Given the description of an element on the screen output the (x, y) to click on. 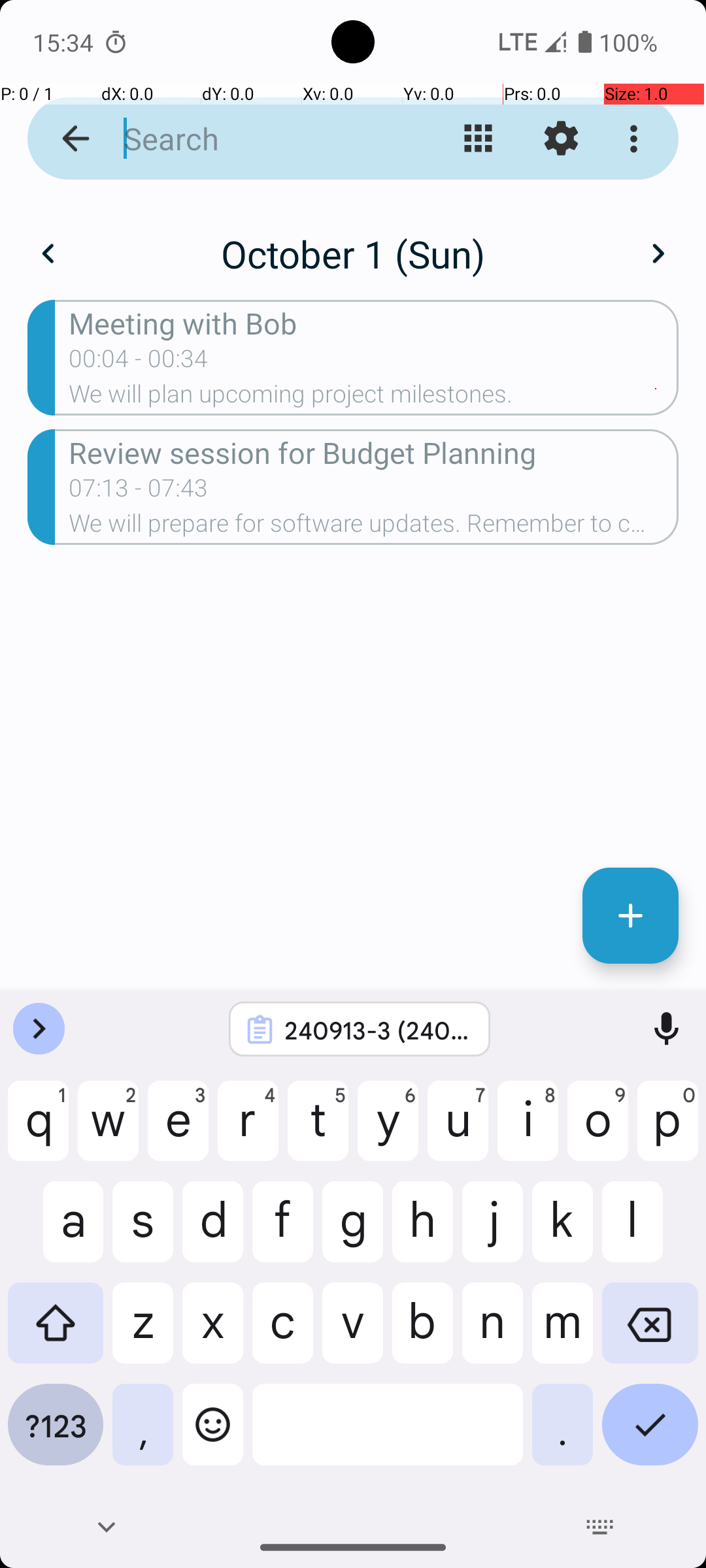
October 1 (Sun) Element type: android.widget.TextView (352, 253)
00:04 - 00:34 Element type: android.widget.TextView (137, 362)
We will plan upcoming project milestones. Element type: android.widget.TextView (373, 397)
07:13 - 07:43 Element type: android.widget.TextView (137, 491)
We will prepare for software updates. Remember to confirm attendance. Element type: android.widget.TextView (373, 526)
240913-3 (240906-2的from base对照组) Element type: android.widget.TextView (376, 1029)
